Given the description of an element on the screen output the (x, y) to click on. 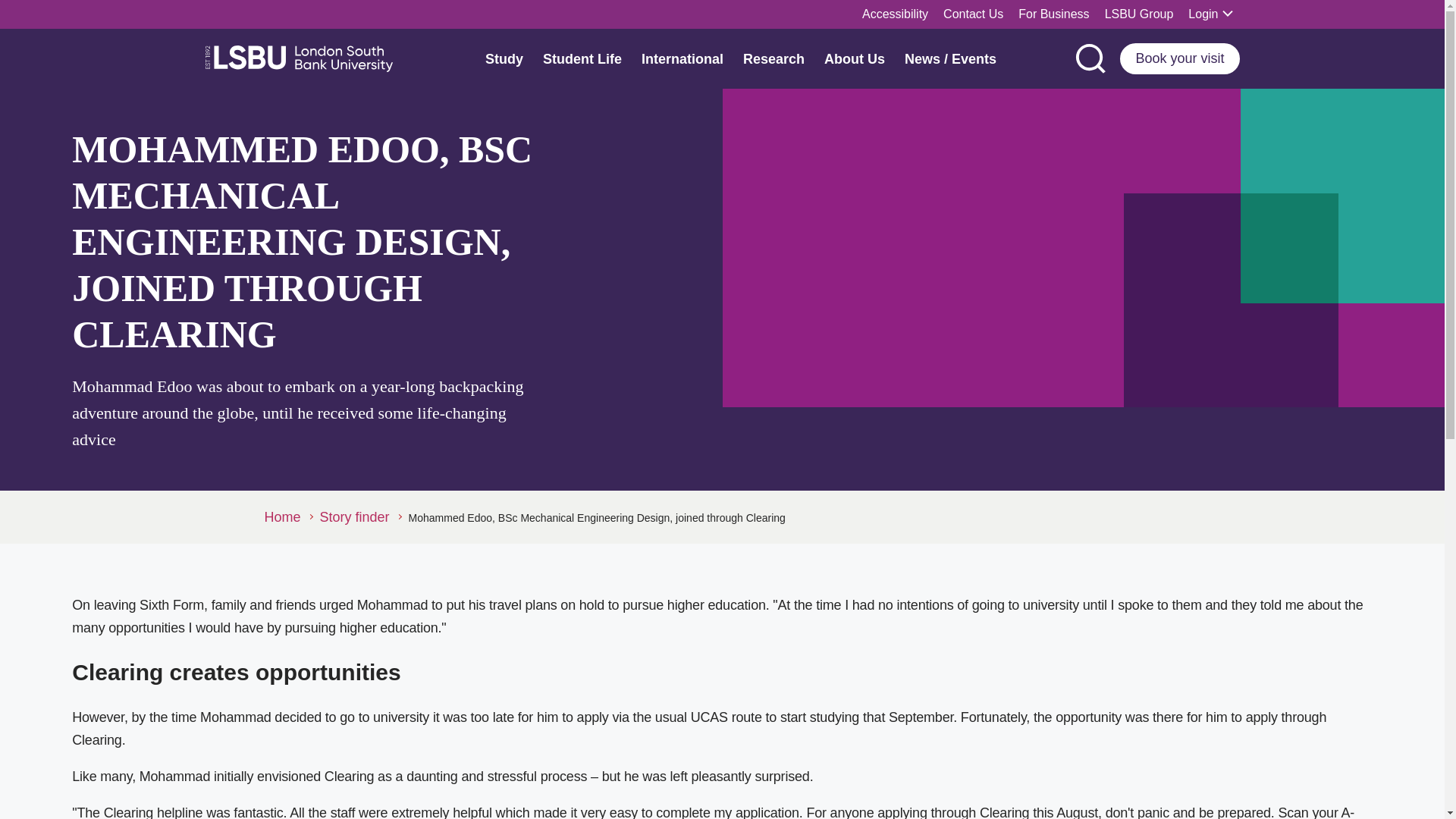
Go to Home (287, 517)
Login (1210, 14)
For Business (1053, 14)
LSBU Group (1138, 14)
Study (504, 58)
Contact Us (973, 14)
Accessibility (895, 14)
Go to Story finder (360, 517)
